Given the description of an element on the screen output the (x, y) to click on. 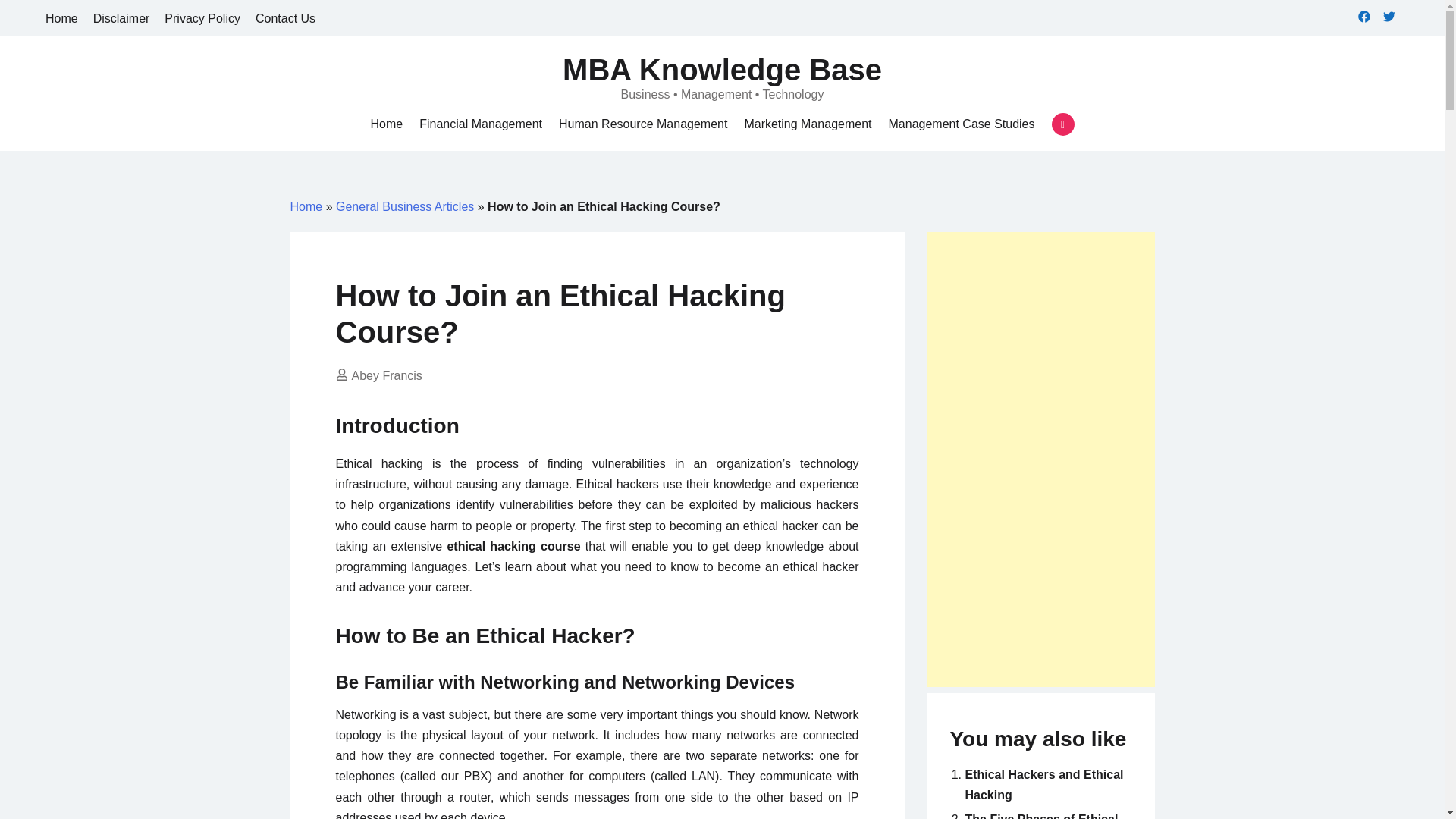
Ethical Hackers and Ethical Hacking (1042, 784)
General Business Articles (405, 205)
The Five Phases of Ethical Hacking (1040, 816)
Home (386, 123)
Contact Us (285, 18)
MBA Knowledge Base (722, 69)
Management Case Studies (961, 123)
Privacy Policy (202, 18)
Home (386, 123)
Disclaimer (121, 18)
